Given the description of an element on the screen output the (x, y) to click on. 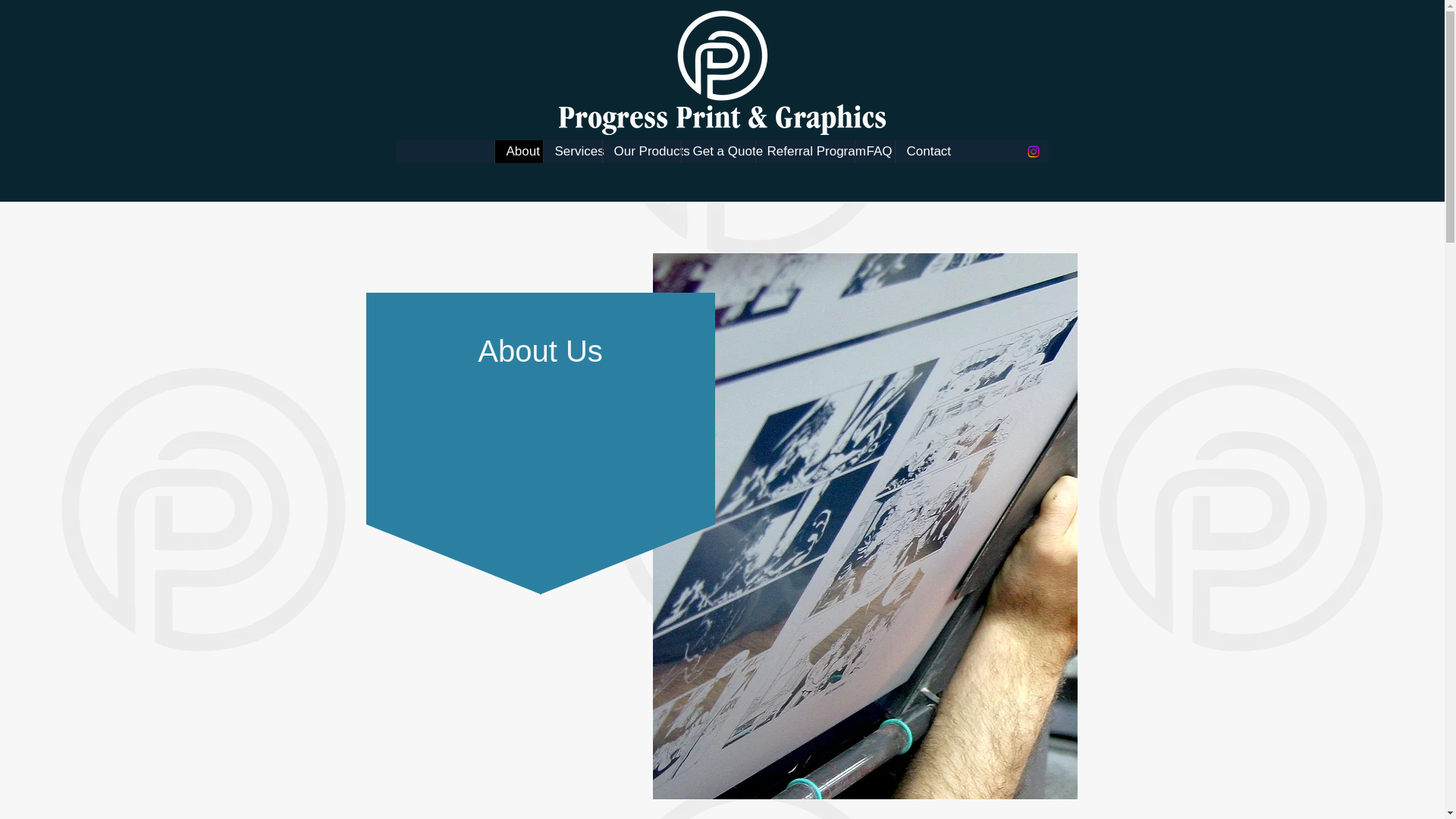
Referral Program (804, 151)
About (519, 151)
Contact (922, 151)
FAQ (873, 151)
Our Products (641, 151)
Services (572, 151)
Get a Quote (718, 151)
